Given the description of an element on the screen output the (x, y) to click on. 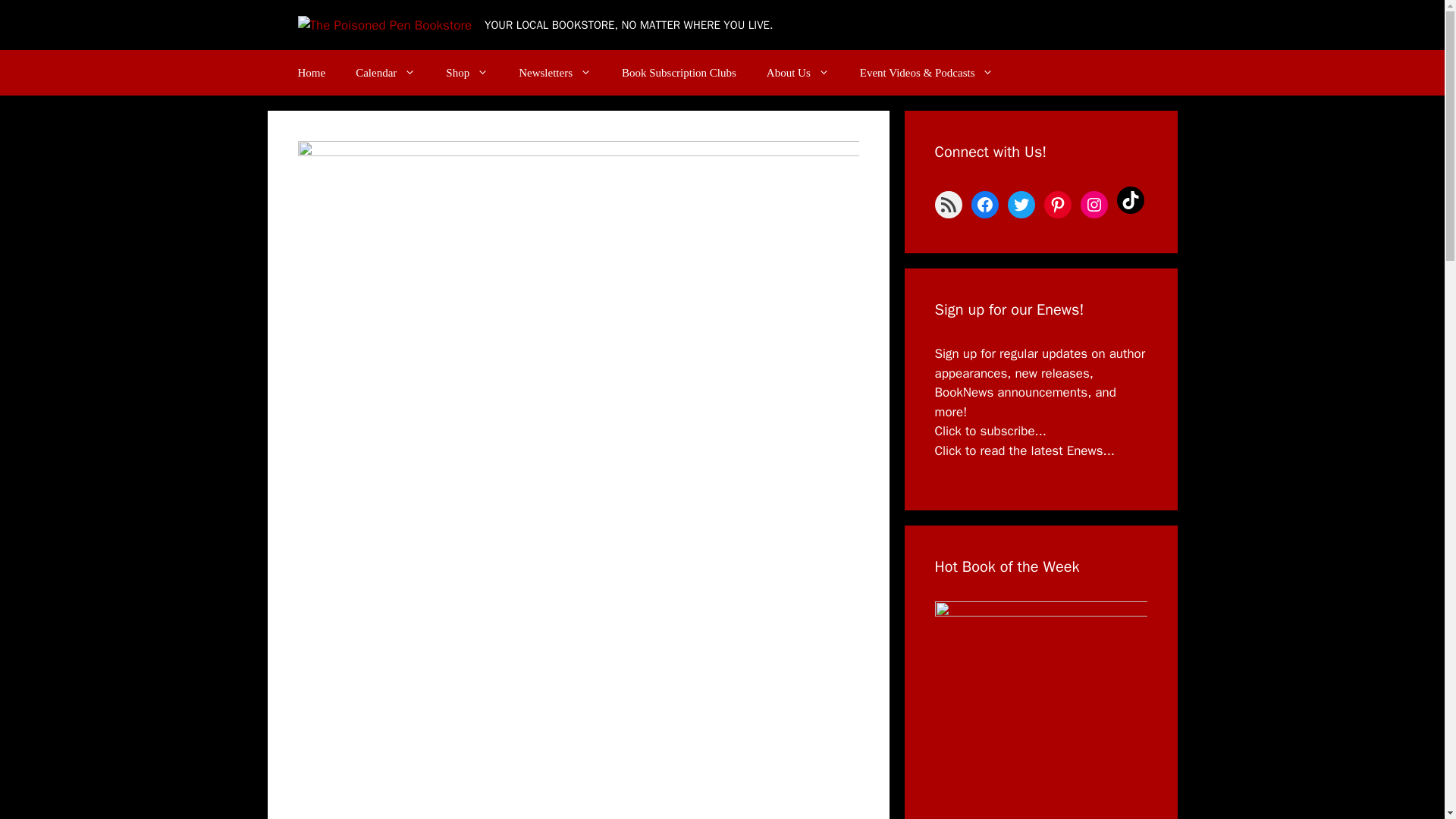
RSS Feed (947, 204)
Instagram (1093, 204)
Click to subscribe... (989, 430)
TikTok (1129, 199)
About Us (797, 72)
Newsletters (555, 72)
Calendar (385, 72)
Shop (466, 72)
Twitter (1020, 204)
Facebook (984, 204)
